Given the description of an element on the screen output the (x, y) to click on. 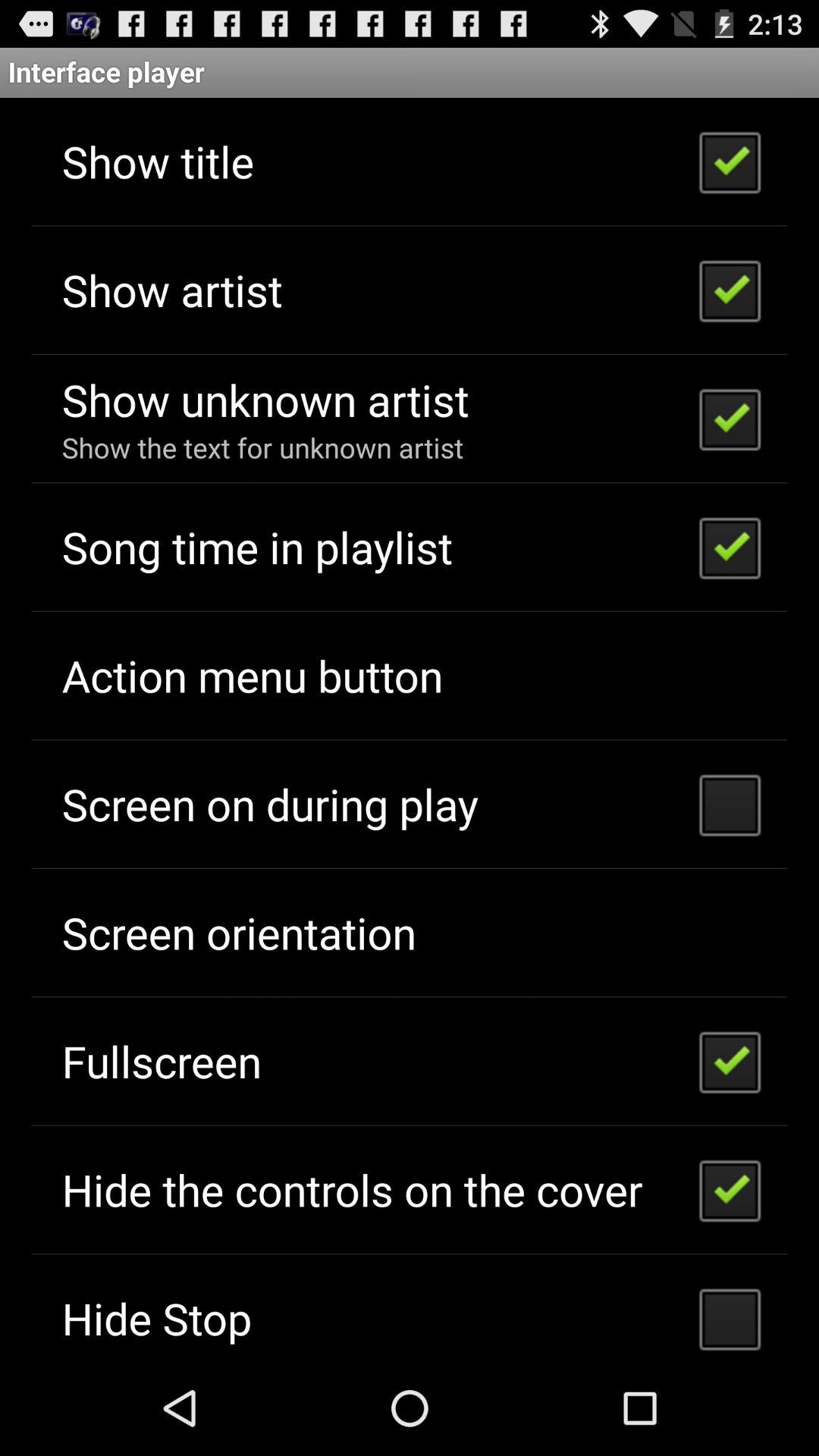
swipe until screen orientation item (238, 932)
